Given the description of an element on the screen output the (x, y) to click on. 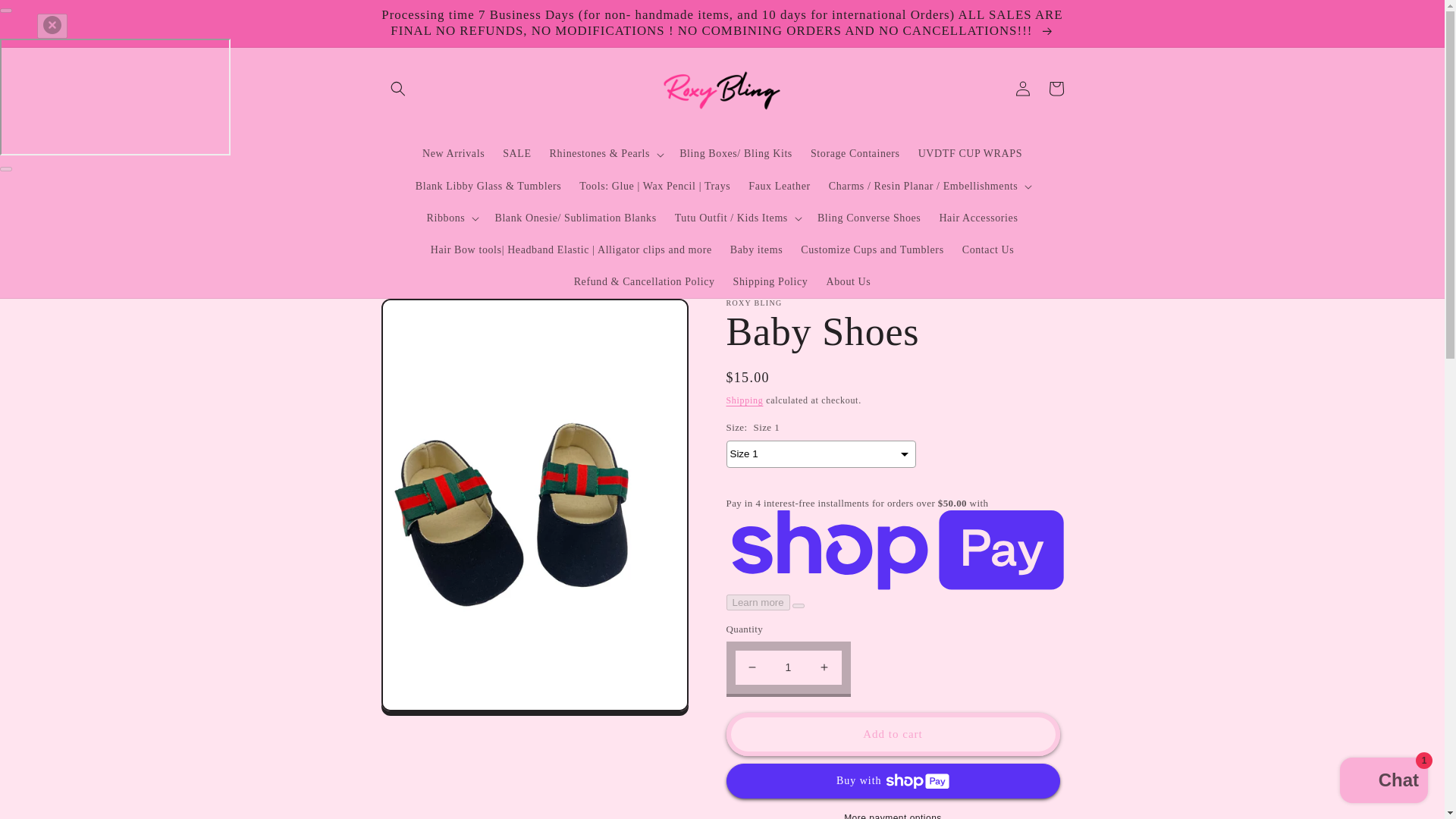
Skip to content (49, 21)
Shopify online store chat (1383, 781)
